Given the description of an element on the screen output the (x, y) to click on. 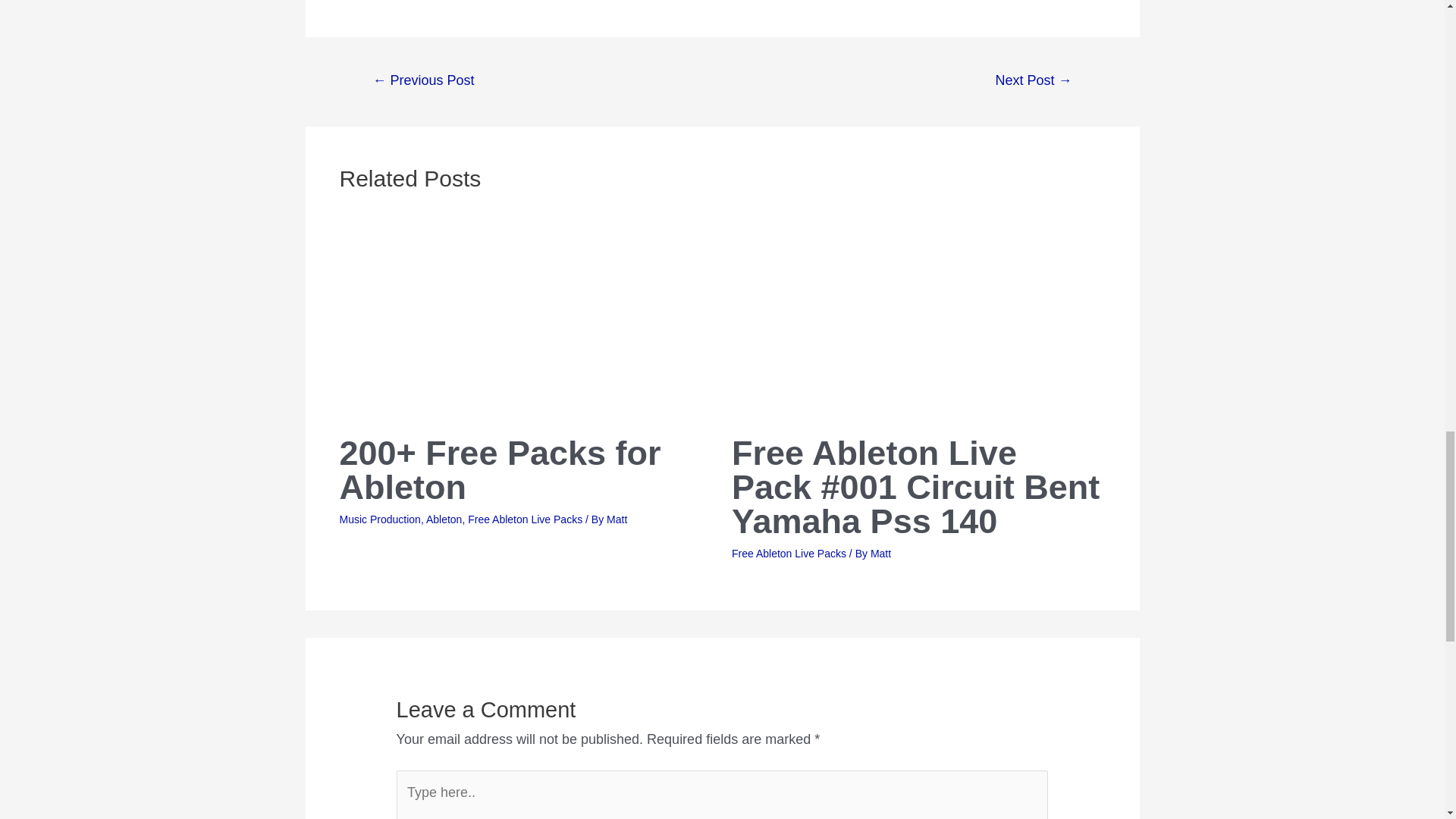
SEO for Musicians: 11 Useful SEO Tips (423, 81)
View all posts by Matt (617, 519)
View all posts by Matt (880, 553)
